Given the description of an element on the screen output the (x, y) to click on. 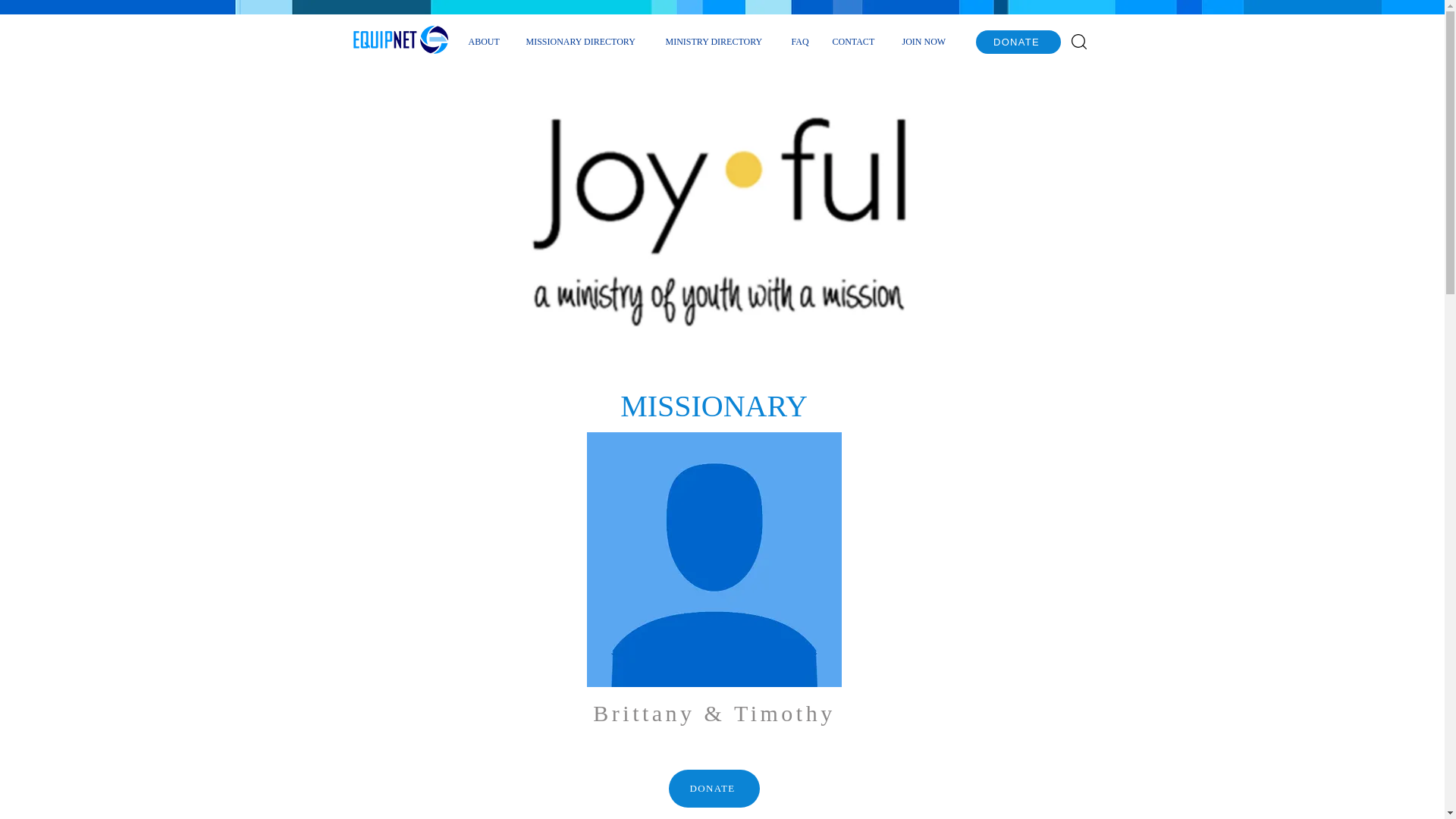
FAQ (799, 41)
MISSIONARY DIRECTORY (583, 41)
DONATE (714, 788)
CONTACT (855, 41)
DONATE (1017, 42)
MINISTRY DIRECTORY (715, 41)
ABOUT (485, 41)
JOIN NOW (925, 41)
